Given the description of an element on the screen output the (x, y) to click on. 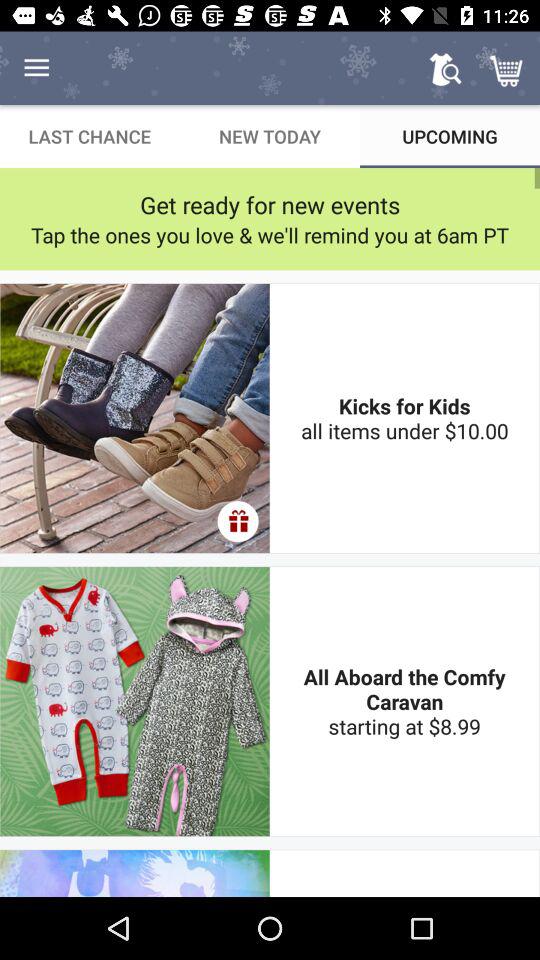
tap the one day zumba (404, 873)
